Given the description of an element on the screen output the (x, y) to click on. 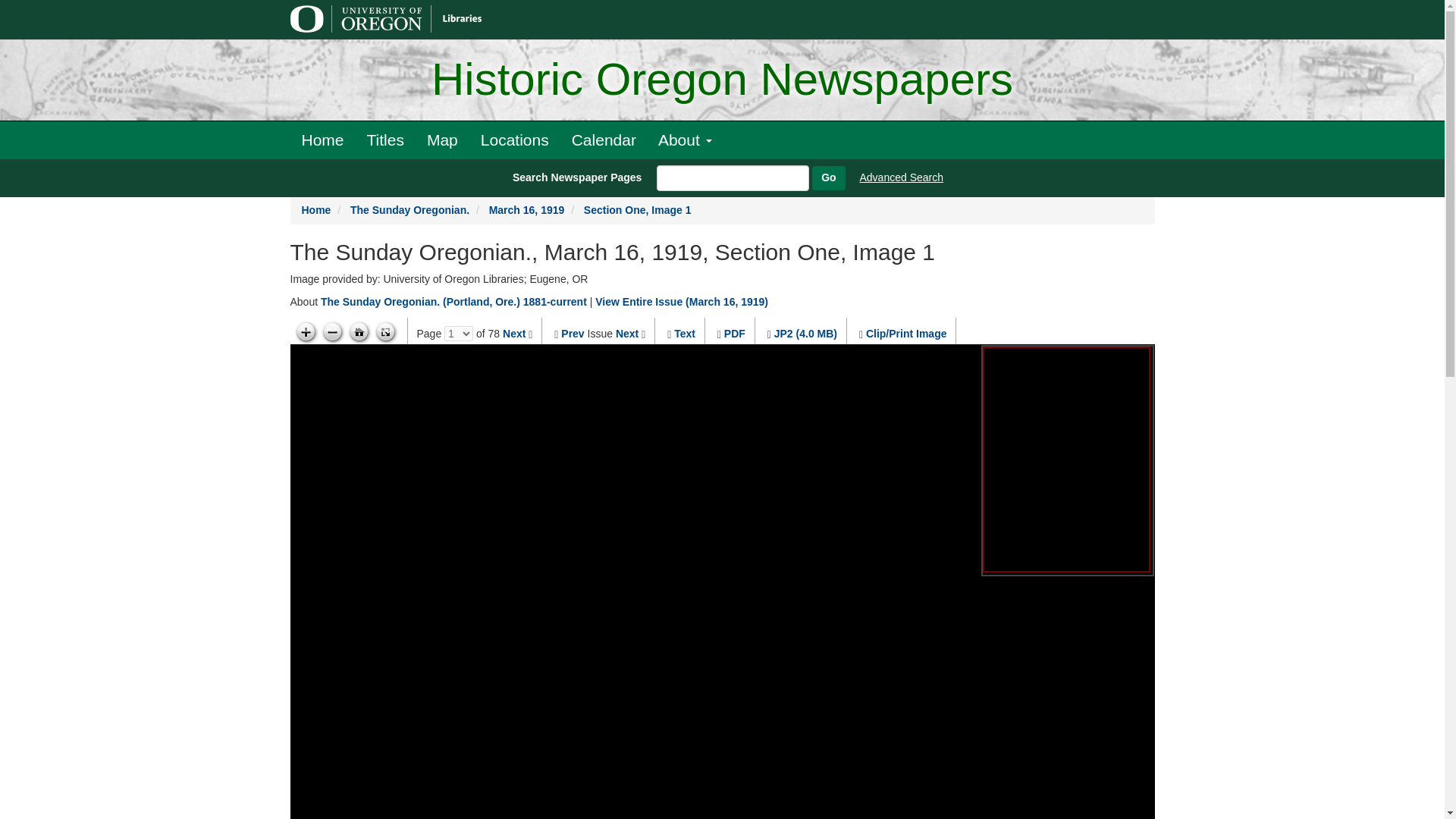
Calendar (603, 139)
Map (441, 139)
Zoom out (332, 332)
Next (513, 333)
Zoom in (305, 332)
Next (627, 333)
About (684, 140)
Historic Oregon Newspapers (721, 79)
Home (316, 209)
Section One, Image 1 (637, 209)
Locations (514, 139)
Text (684, 333)
Prev (571, 333)
Toggle full page (385, 332)
Titles (384, 139)
